Given the description of an element on the screen output the (x, y) to click on. 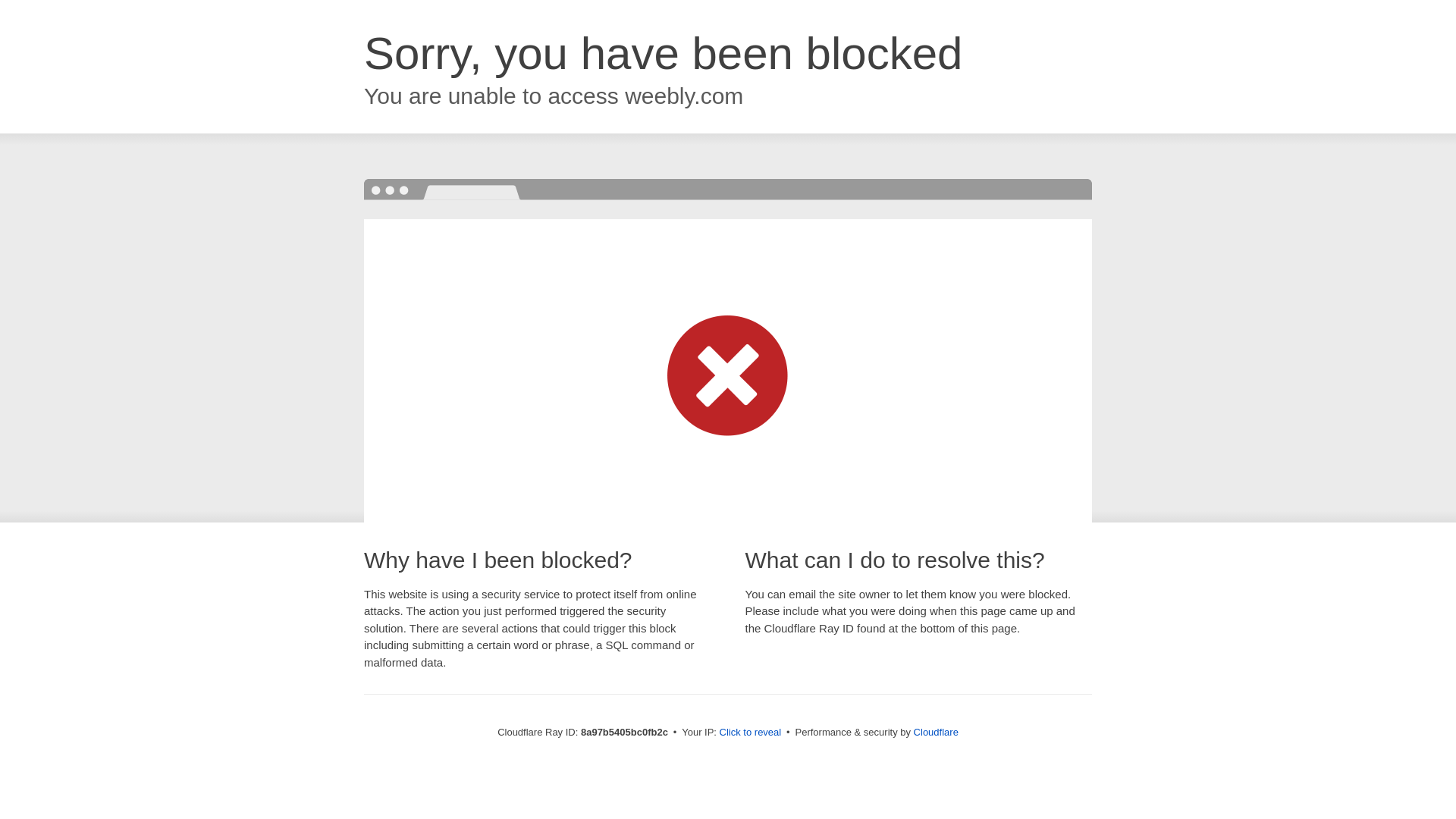
Cloudflare (936, 731)
Click to reveal (750, 732)
